Given the description of an element on the screen output the (x, y) to click on. 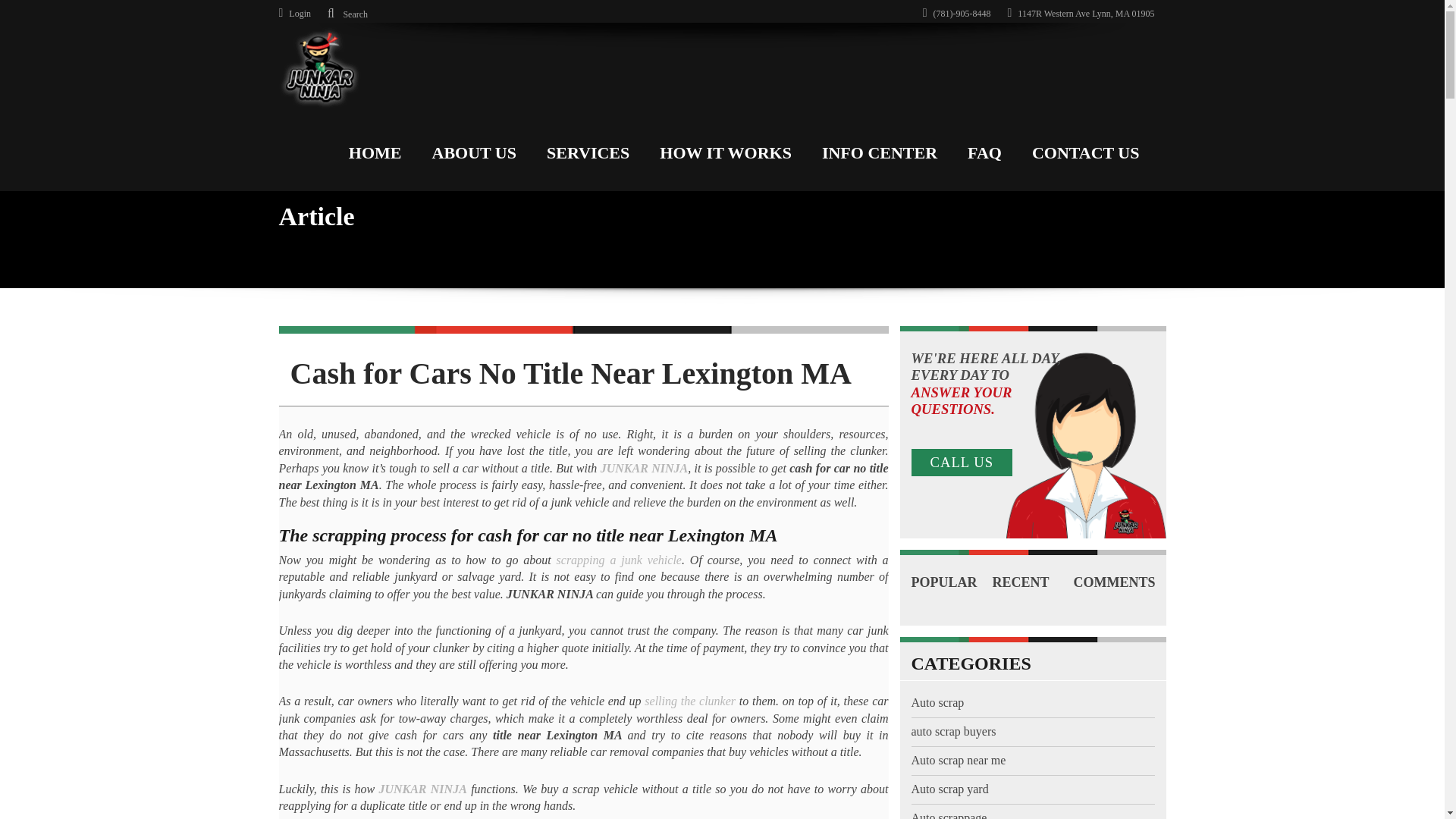
Auto scrap yard (949, 788)
POPULAR (951, 582)
scrapping a junk vehicle (618, 559)
ABOUT US (473, 149)
selling the clunker (690, 700)
JUNKAR NINJA (643, 468)
auto scrap buyers (953, 730)
Auto scrap near me (958, 759)
1147R Western Ave Lynn, MA 01905 (1080, 13)
SERVICES (588, 149)
HOME (374, 149)
JUNKAR NINJA (421, 788)
CONTACT US (1085, 149)
Auto scrap (937, 702)
INFO CENTER (879, 149)
